Given the description of an element on the screen output the (x, y) to click on. 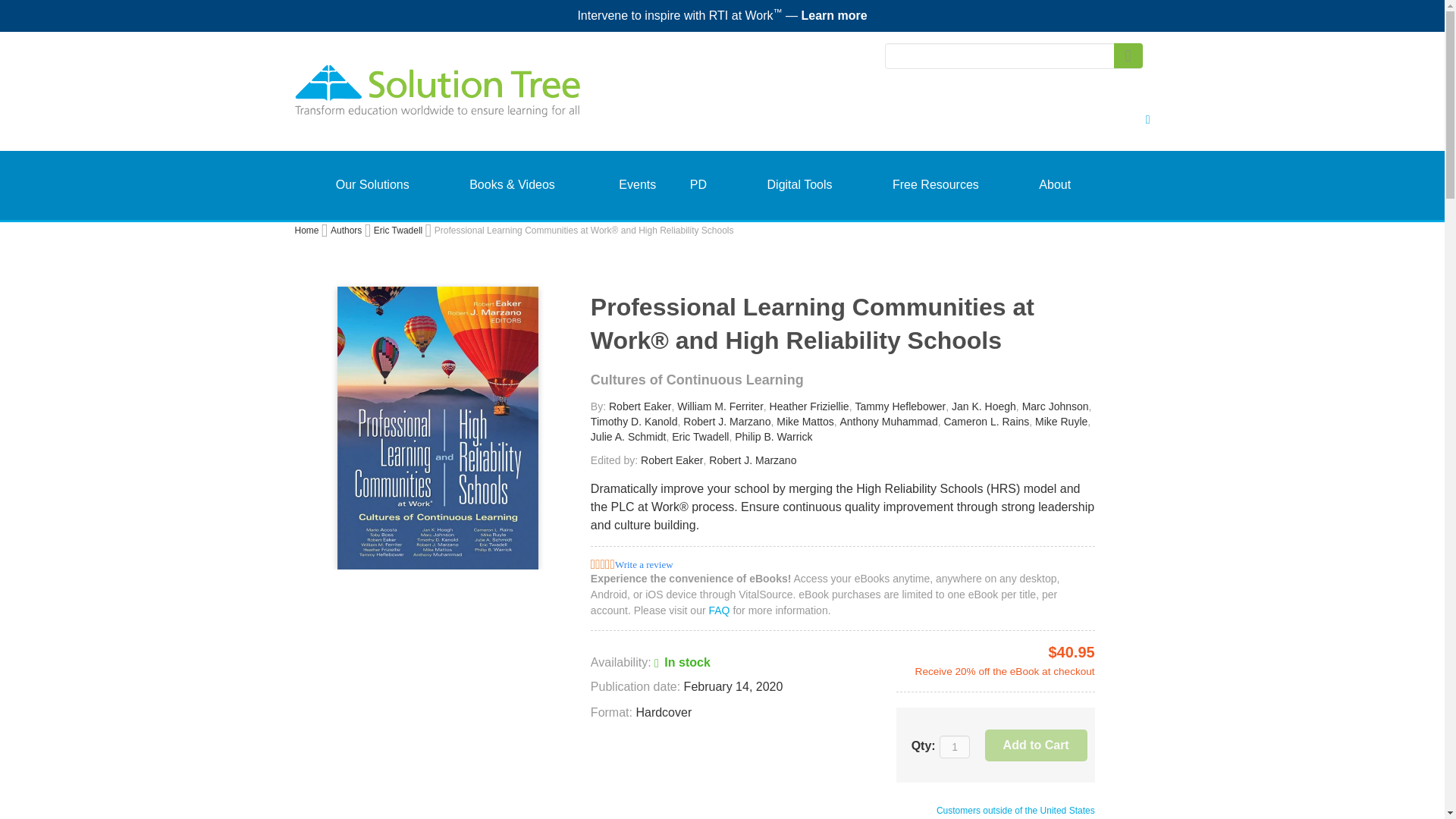
Qty: (954, 746)
Learn more (833, 15)
Search (1127, 55)
1 (954, 746)
Solution Tree (494, 98)
Availability (650, 662)
Add to Cart (1036, 745)
Go to Home Page (306, 230)
Search (1127, 55)
Our Solutions (372, 185)
